Given the description of an element on the screen output the (x, y) to click on. 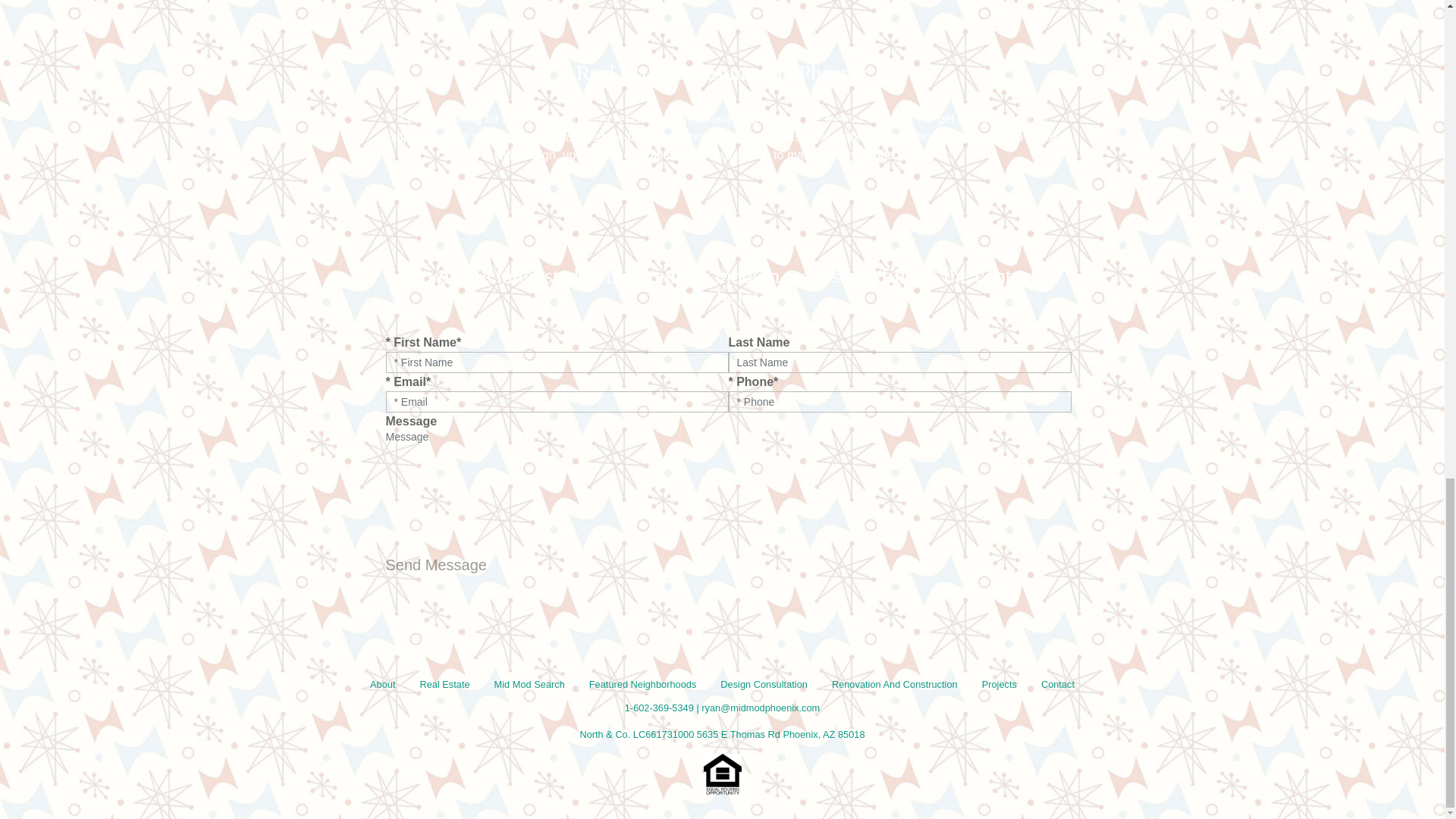
Real Estate (444, 683)
1-602-369-5349 (659, 707)
Design Consultation (763, 683)
Featured Neighborhoods (642, 683)
About (382, 683)
Renovation And Construction (894, 683)
Contact (1057, 683)
Projects (999, 683)
Mid Mod Search (528, 683)
Send Message (435, 565)
